Given the description of an element on the screen output the (x, y) to click on. 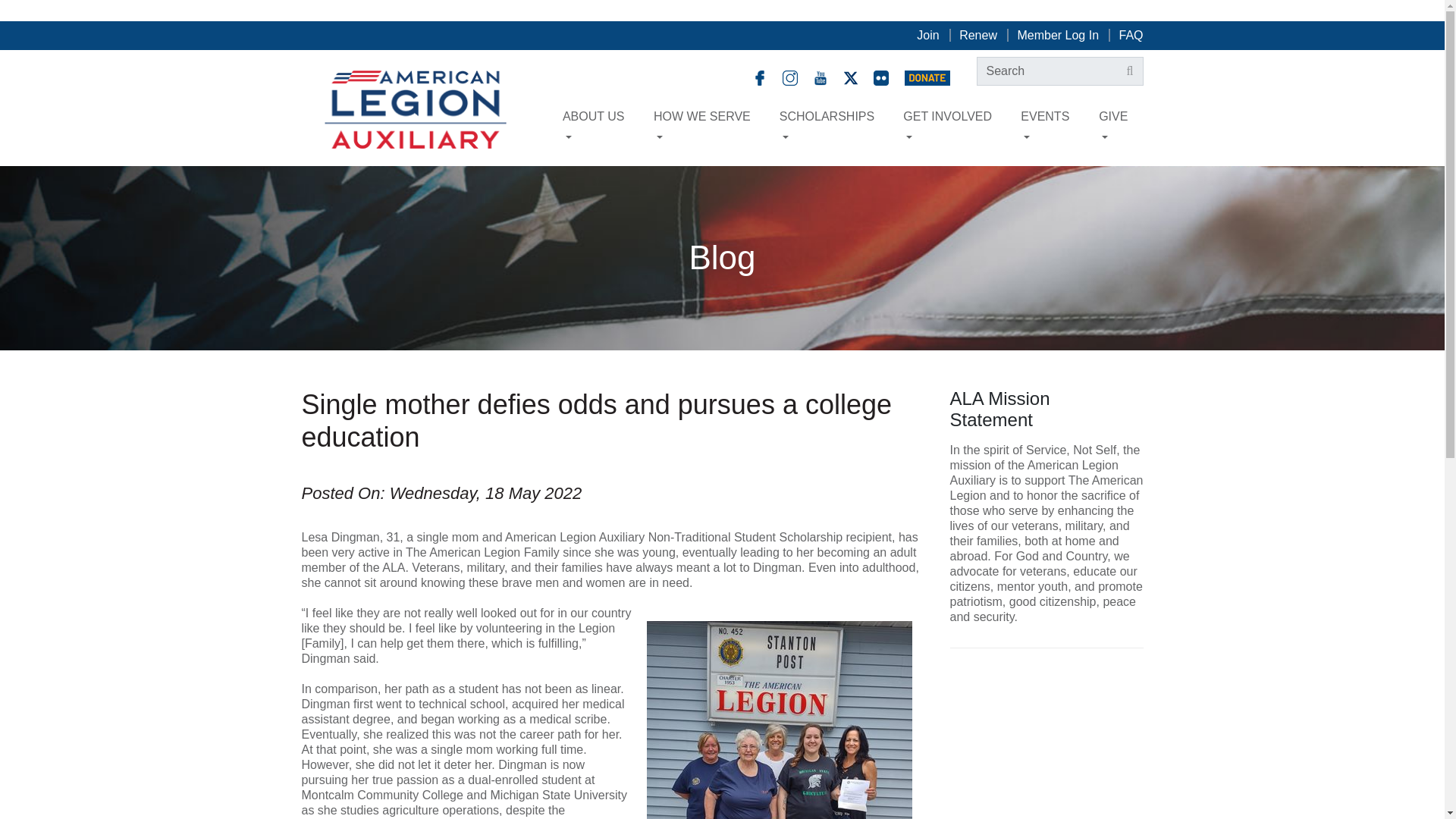
FAQ (1130, 34)
Search (1129, 70)
Facebook (761, 77)
search (1059, 70)
Instagram (792, 77)
Join (928, 34)
Search (1129, 70)
Donate (926, 77)
Flickr (882, 77)
Youtube (821, 77)
Renew (978, 34)
Member Log In (1057, 34)
ABOUT US (597, 127)
